Given the description of an element on the screen output the (x, y) to click on. 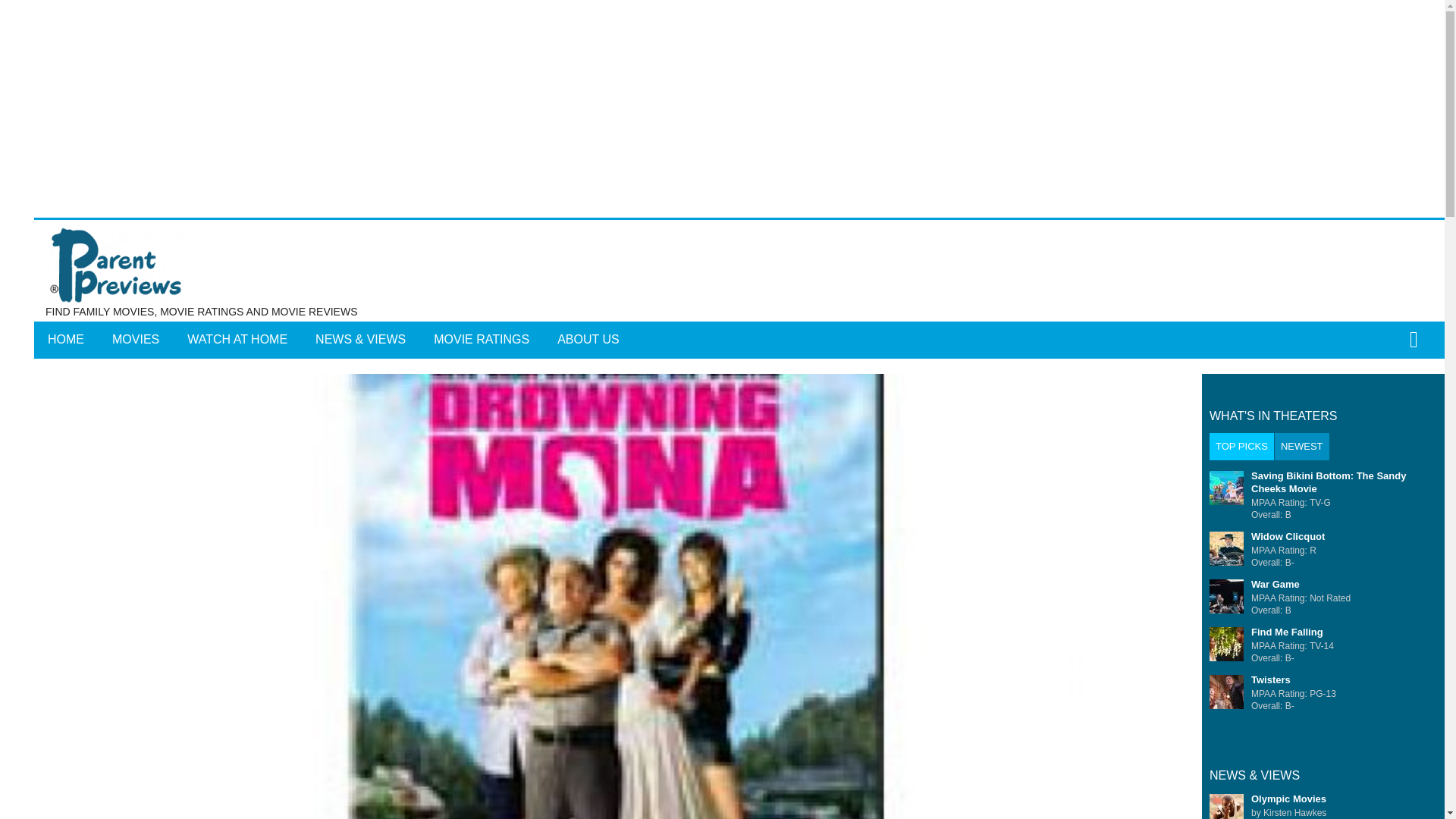
WATCH AT HOME (237, 339)
MOVIE RATINGS (481, 339)
Search (763, 349)
HOME (65, 339)
MOVIES (136, 339)
ABOUT US (588, 339)
